Given the description of an element on the screen output the (x, y) to click on. 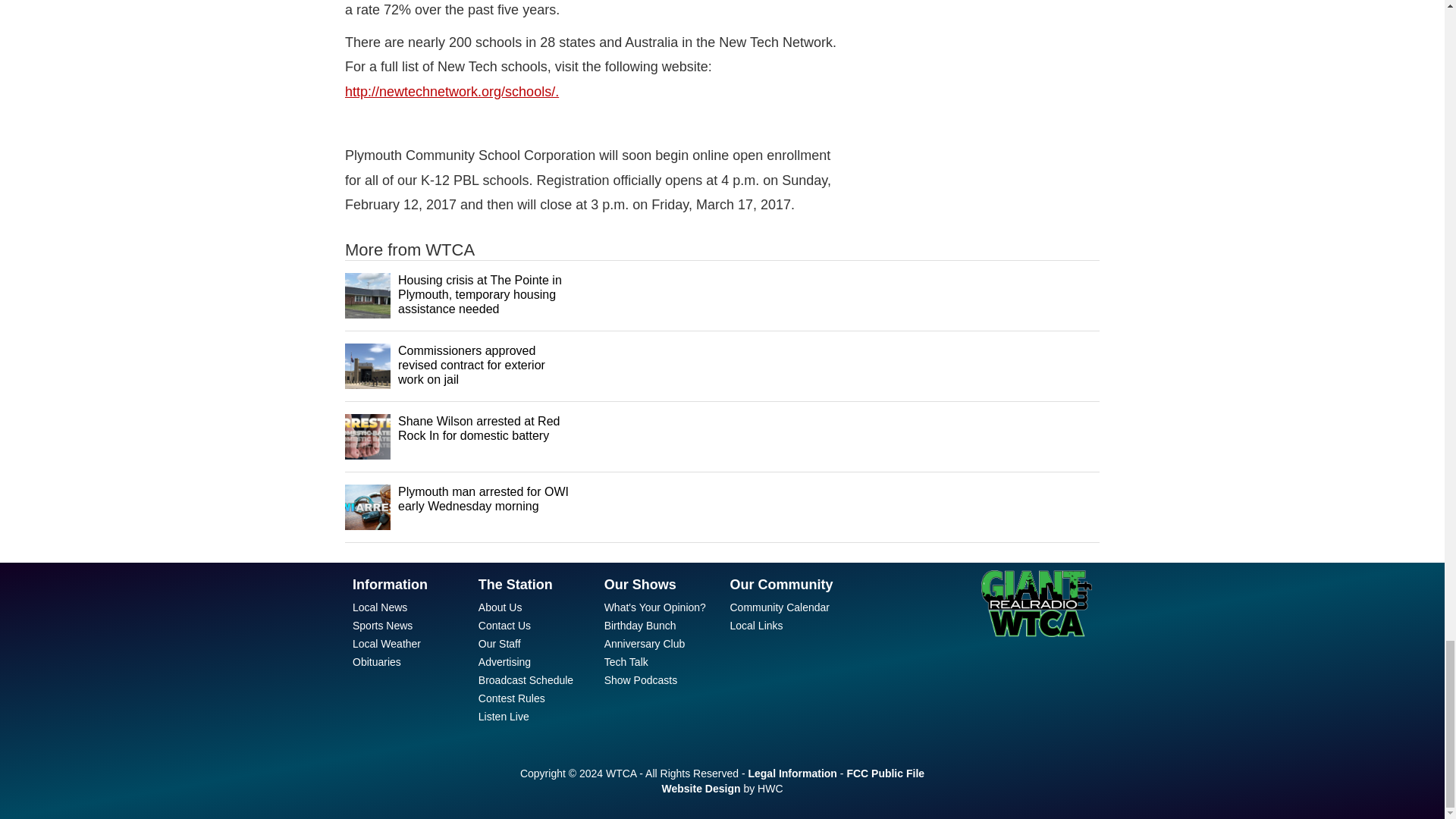
Advertising (505, 662)
What's Your Opinion? (655, 607)
Contest Rules (511, 698)
Obituaries (376, 662)
Broadcast Schedule (526, 680)
Listen Live (504, 716)
Plymouth man arrested for OWI early Wednesday morning (483, 498)
Local Weather (386, 644)
Our Staff (500, 644)
Shane Wilson arrested at Red Rock In for domestic battery (478, 428)
Contact Us (505, 625)
Sports News (382, 625)
Local News (379, 607)
